Given the description of an element on the screen output the (x, y) to click on. 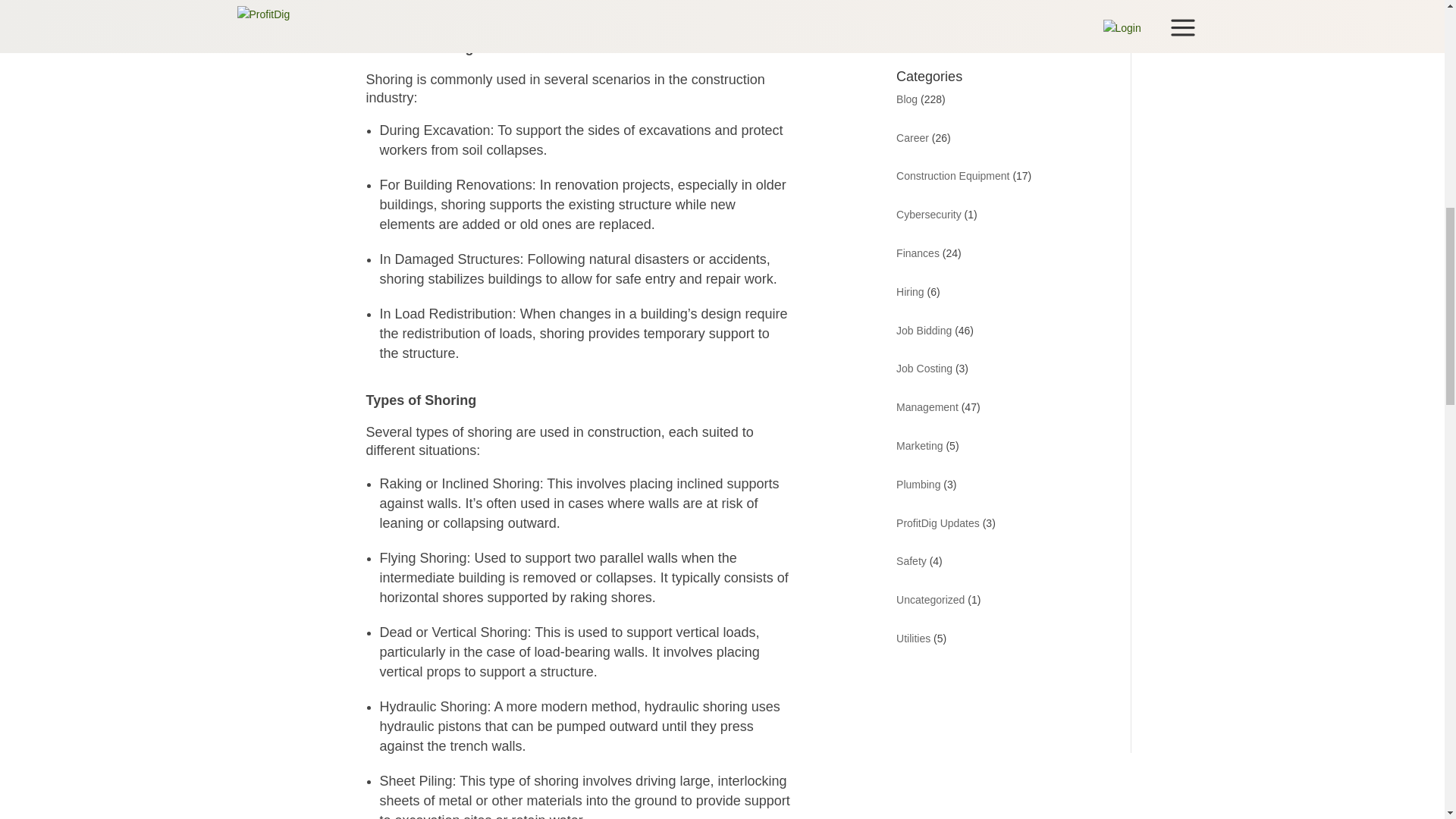
Finances (917, 253)
Blog (906, 99)
Cybersecurity (928, 214)
Career (912, 137)
Construction Equipment (952, 175)
